Given the description of an element on the screen output the (x, y) to click on. 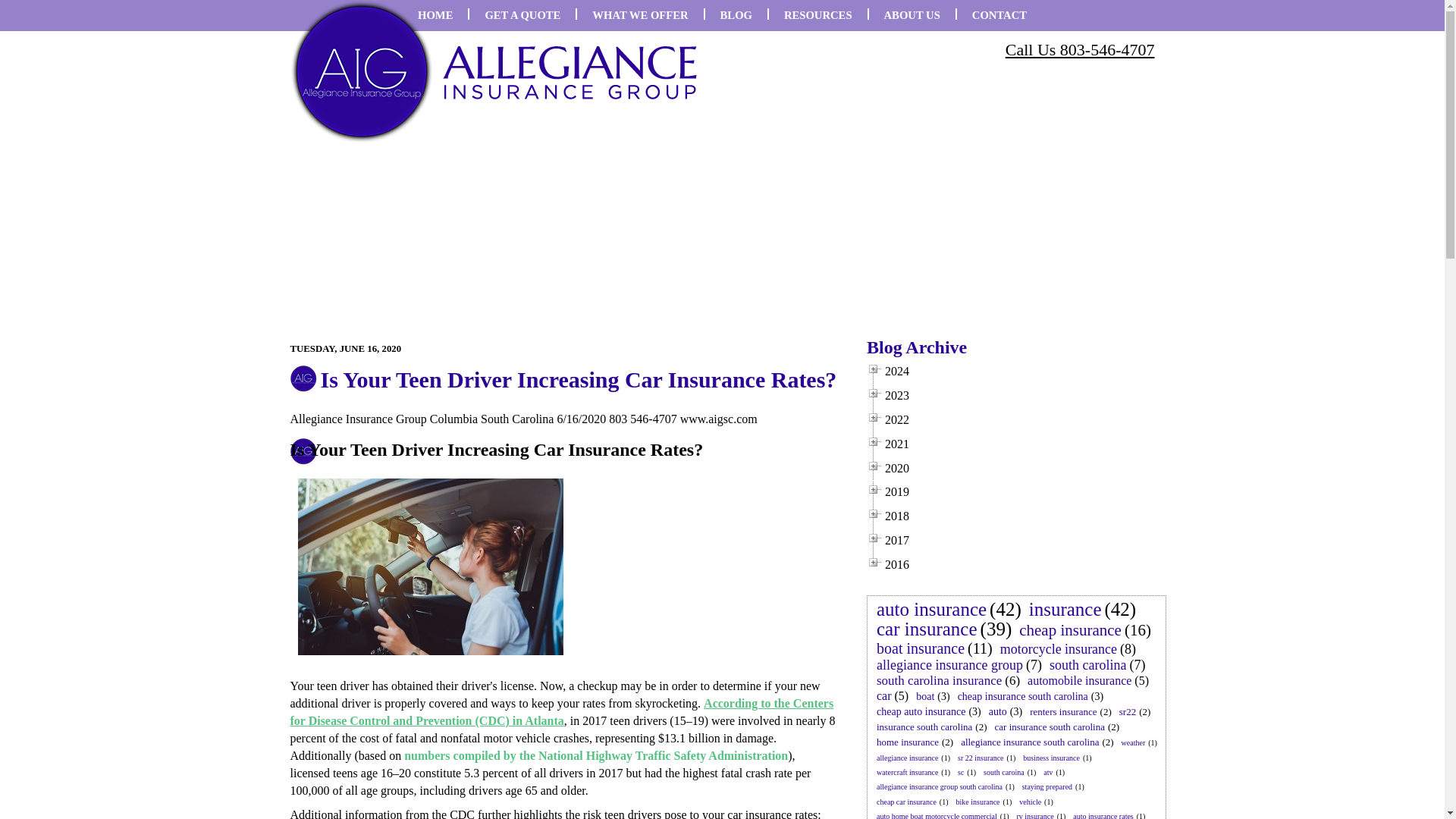
boat insurance (920, 648)
south carolina (1087, 665)
ABOUT US (912, 15)
cheap insurance (1070, 629)
cheap auto insurance (920, 711)
insurance (1065, 608)
HOME (435, 15)
cheap insurance south carolina (1022, 696)
motorcycle insurance (1058, 648)
renters insurance (1062, 711)
